Given the description of an element on the screen output the (x, y) to click on. 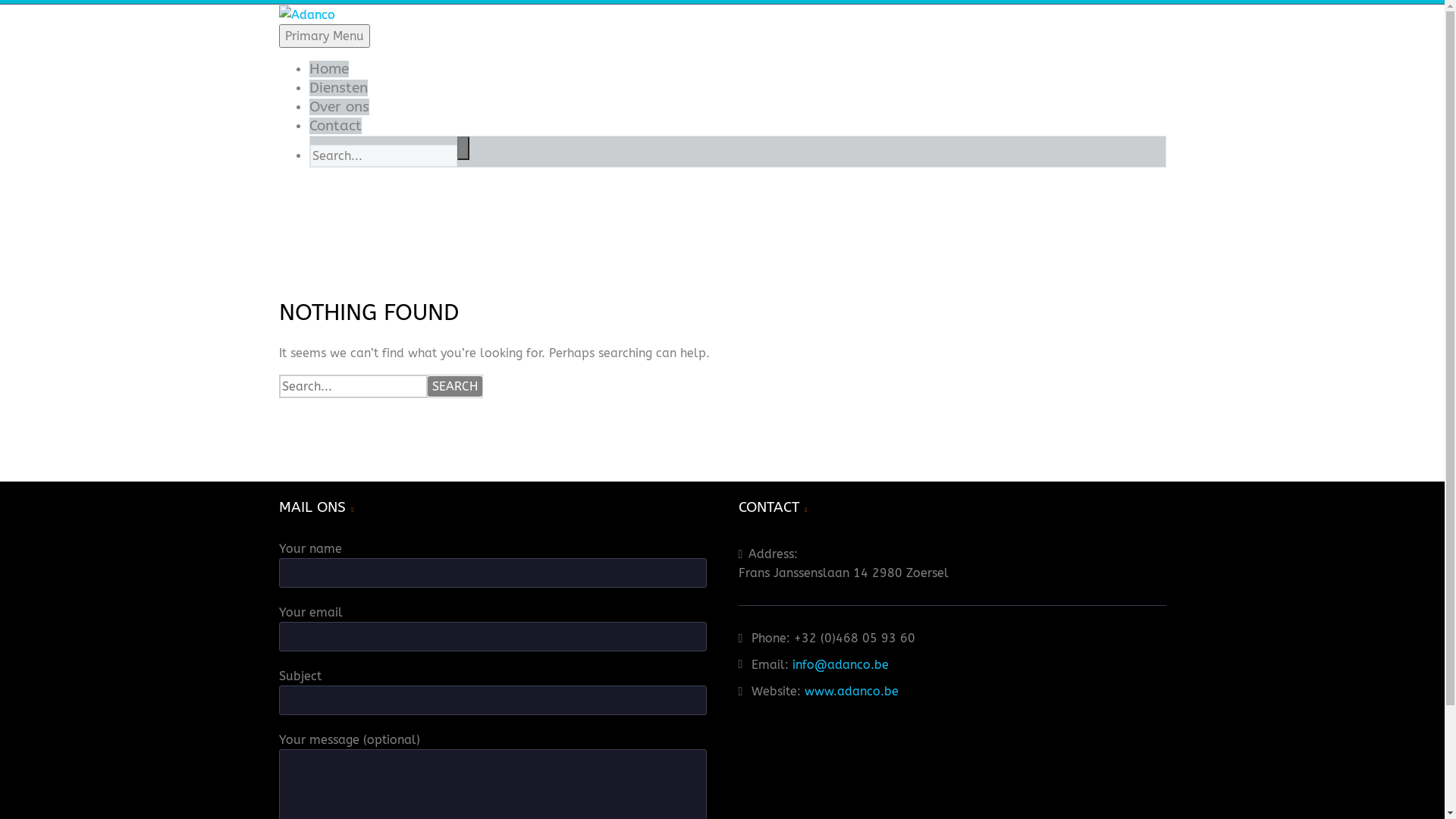
Over ons Element type: text (339, 106)
Diensten Element type: text (338, 87)
SEARCH Element type: text (454, 386)
info@adanco.be Element type: text (840, 664)
+32 (0)468 05 93 60 Element type: text (854, 637)
Contact Element type: text (335, 125)
Primary Menu Element type: text (324, 35)
www.adanco.be Element type: text (851, 691)
Home Element type: text (328, 68)
